Given the description of an element on the screen output the (x, y) to click on. 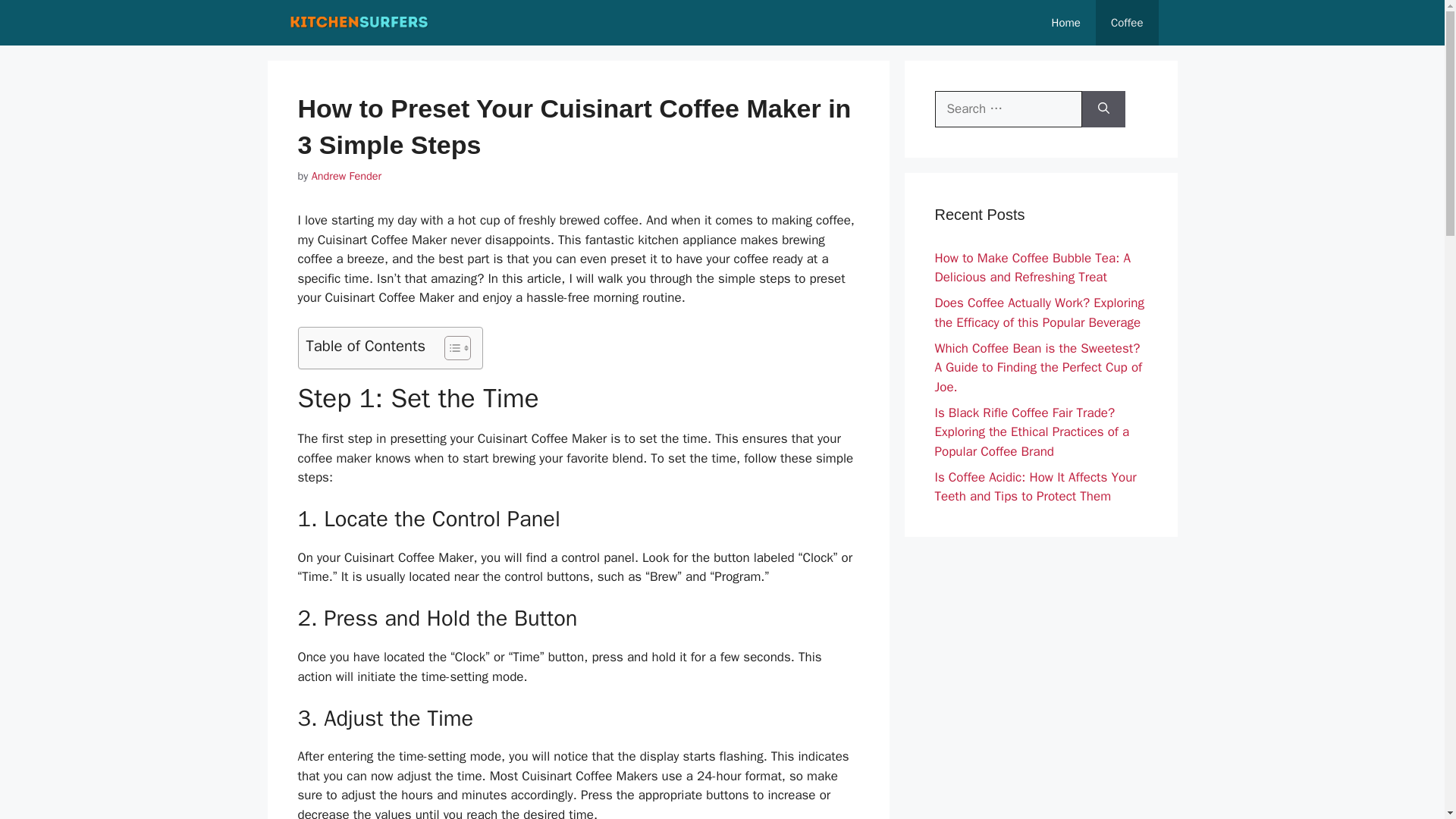
KitchenSurfers (359, 22)
Coffee (1127, 22)
Andrew Fender (346, 175)
View all posts by Andrew Fender (346, 175)
Home (1066, 22)
